Given the description of an element on the screen output the (x, y) to click on. 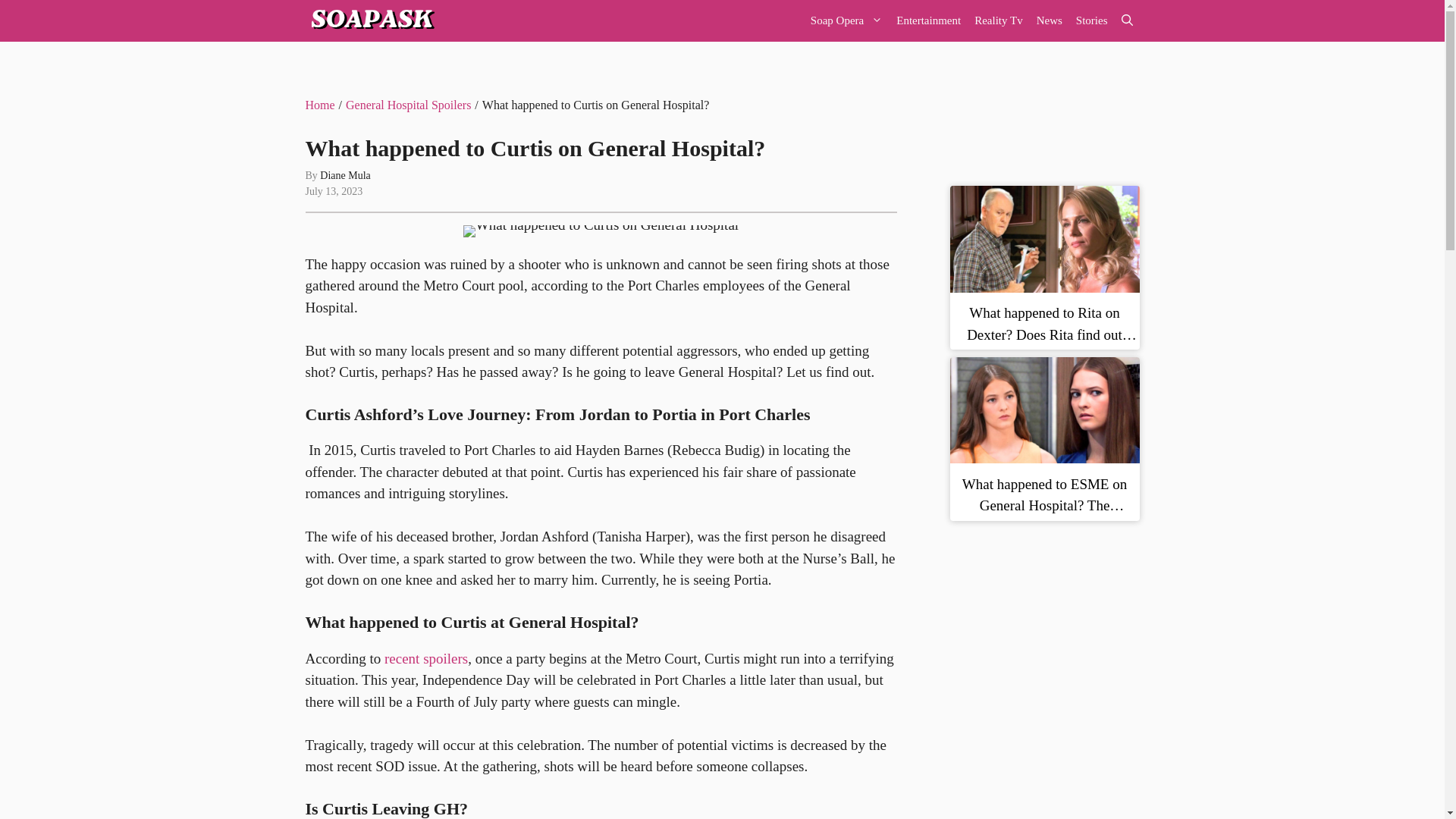
SoapAsk (370, 20)
Soap Opera (846, 20)
What happened to Curtis on General Hospital? 1 (600, 230)
View all posts by Diane Mula (344, 174)
